Given the description of an element on the screen output the (x, y) to click on. 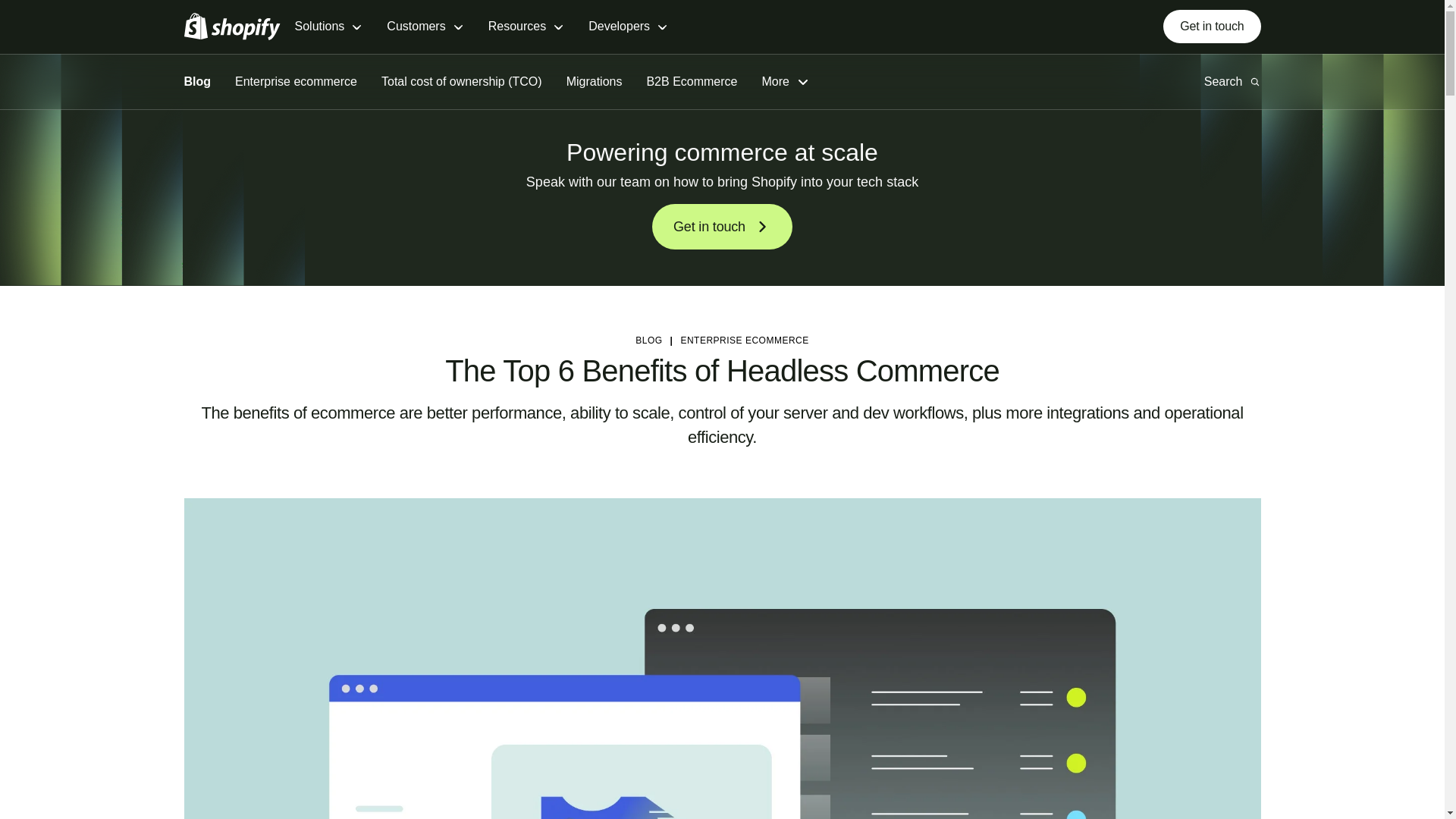
Resources (525, 27)
Solutions (328, 27)
Customers (425, 27)
Developers (628, 27)
